Given the description of an element on the screen output the (x, y) to click on. 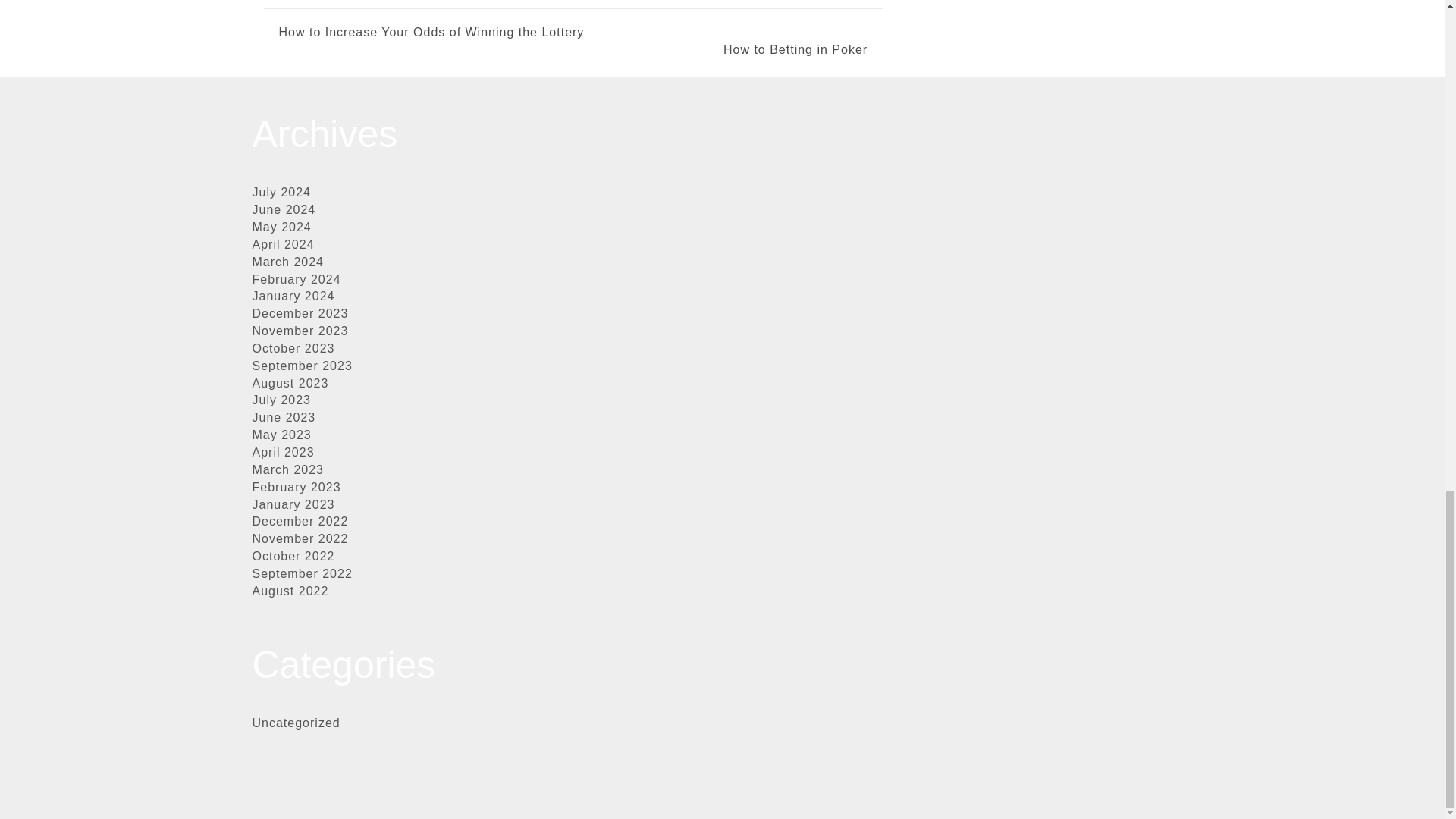
August 2023 (290, 382)
June 2023 (283, 417)
March 2024 (287, 261)
July 2024 (281, 192)
December 2022 (299, 521)
November 2023 (299, 330)
December 2023 (299, 313)
May 2023 (281, 434)
How to Increase Your Odds of Winning the Lottery (432, 32)
October 2023 (292, 348)
September 2023 (301, 365)
June 2024 (283, 209)
February 2023 (295, 486)
July 2023 (281, 399)
February 2024 (295, 278)
